Given the description of an element on the screen output the (x, y) to click on. 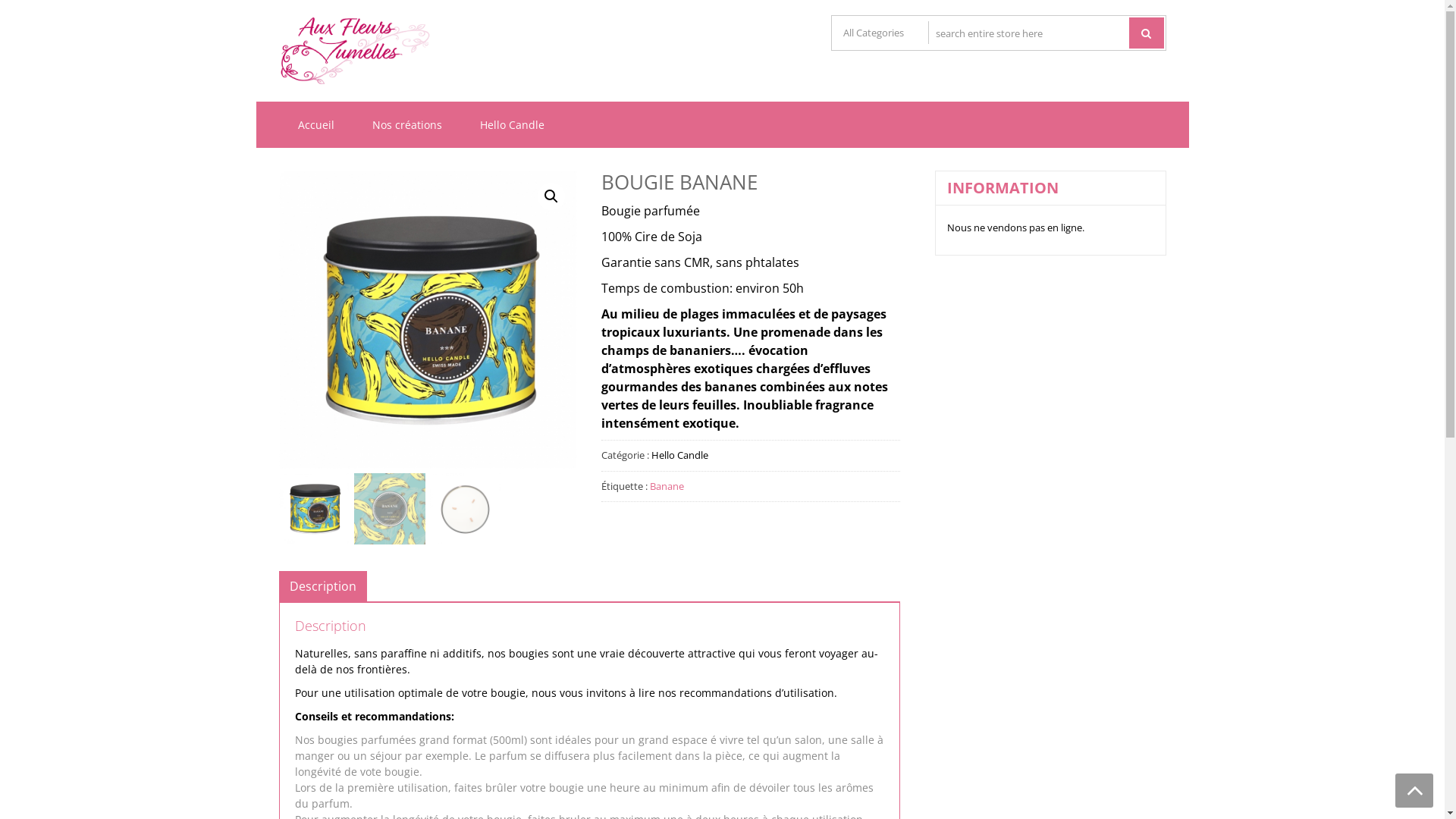
Description Element type: text (322, 586)
Bougie_banane_1 Element type: hover (428, 319)
Hello Candle Element type: text (512, 124)
Bougie_banane_2 Element type: hover (726, 319)
Banane Element type: text (666, 485)
AUX FLEURS JUMELLES Element type: text (585, 61)
Accueil Element type: text (316, 124)
Hello Candle Element type: text (679, 454)
